Given the description of an element on the screen output the (x, y) to click on. 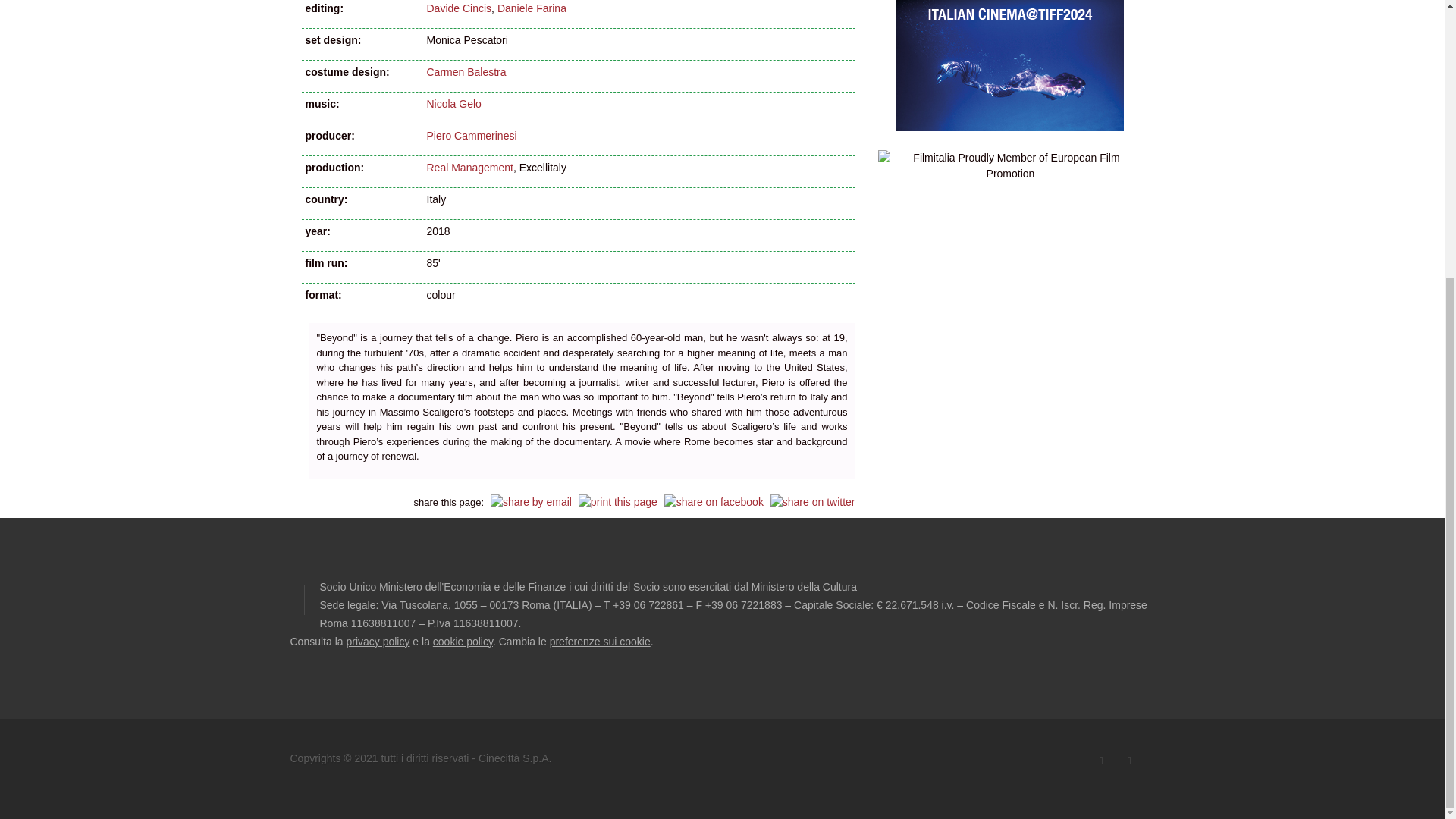
share on twitter (813, 501)
share by email (531, 501)
share on facebook (712, 501)
print this page (618, 501)
